Given the description of an element on the screen output the (x, y) to click on. 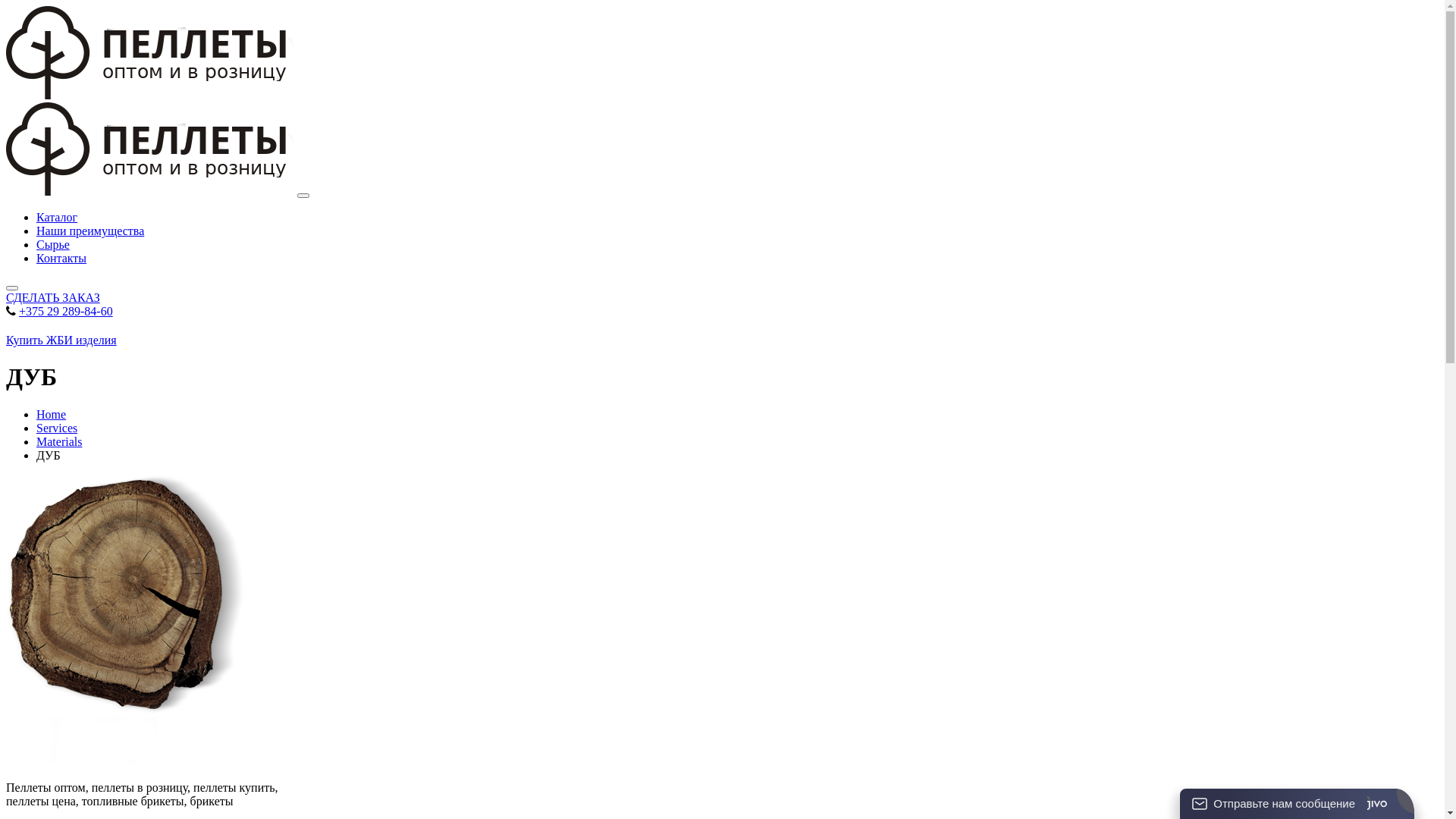
+375 29 289-84-60 Element type: text (65, 310)
Services Element type: text (56, 427)
Home Element type: text (50, 413)
Materials Element type: text (58, 441)
